Given the description of an element on the screen output the (x, y) to click on. 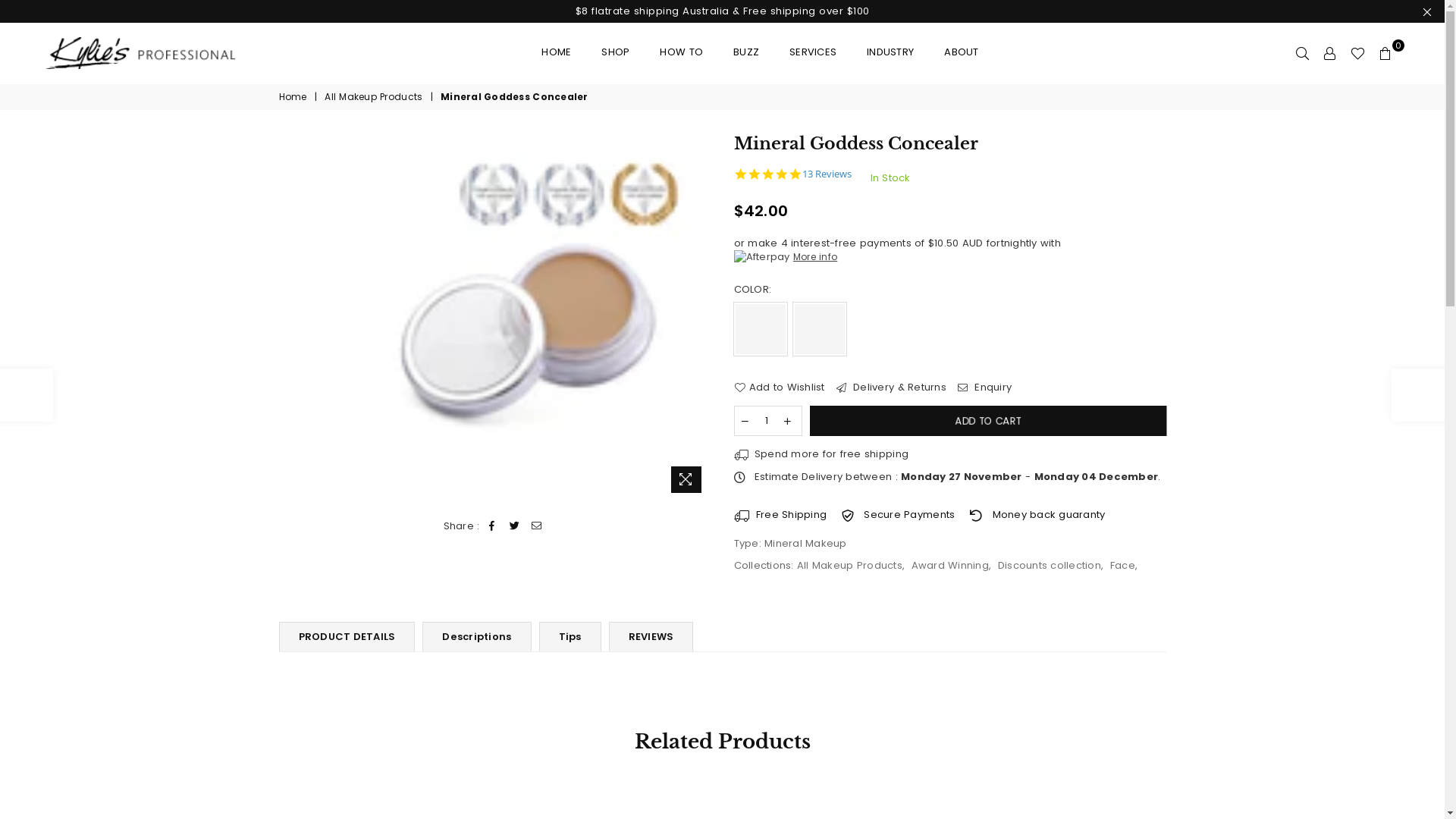
REVIEWS Element type: text (650, 636)
BUZZ Element type: text (745, 53)
ABOUT Element type: text (960, 53)
Add to Wishlist Element type: text (779, 387)
13 Reviews Element type: text (826, 174)
My Account Element type: hover (1329, 52)
5.0 star rating
13 Reviews Element type: text (792, 174)
Enquiry Element type: text (984, 387)
PRODUCT DETAILS Element type: text (347, 636)
Share on Facebook Element type: hover (492, 526)
Descriptions Element type: text (476, 636)
HOW TO Element type: text (681, 53)
Tweet on Twitter Element type: hover (514, 526)
HOME Element type: text (556, 53)
Share by Email Element type: hover (536, 526)
All Makeup Products Element type: text (374, 97)
0 Element type: text (1385, 52)
Face Element type: text (1122, 565)
Quantity Element type: hover (768, 420)
KYLIES PROFESSIONAL MAKEUP Element type: text (151, 53)
SERVICES Element type: text (812, 53)
More info Element type: text (785, 256)
Home Element type: text (294, 97)
INDUSTRY Element type: text (890, 53)
Award Winning Element type: text (949, 565)
SHOP Element type: text (614, 53)
Discounts collection Element type: text (1049, 565)
ADD TO CART Element type: text (985, 420)
Wishlist Element type: hover (1357, 52)
Search Element type: hover (1302, 52)
Delivery & Returns Element type: text (891, 387)
All Makeup Products Element type: text (849, 565)
Tips Element type: text (570, 636)
